Given the description of an element on the screen output the (x, y) to click on. 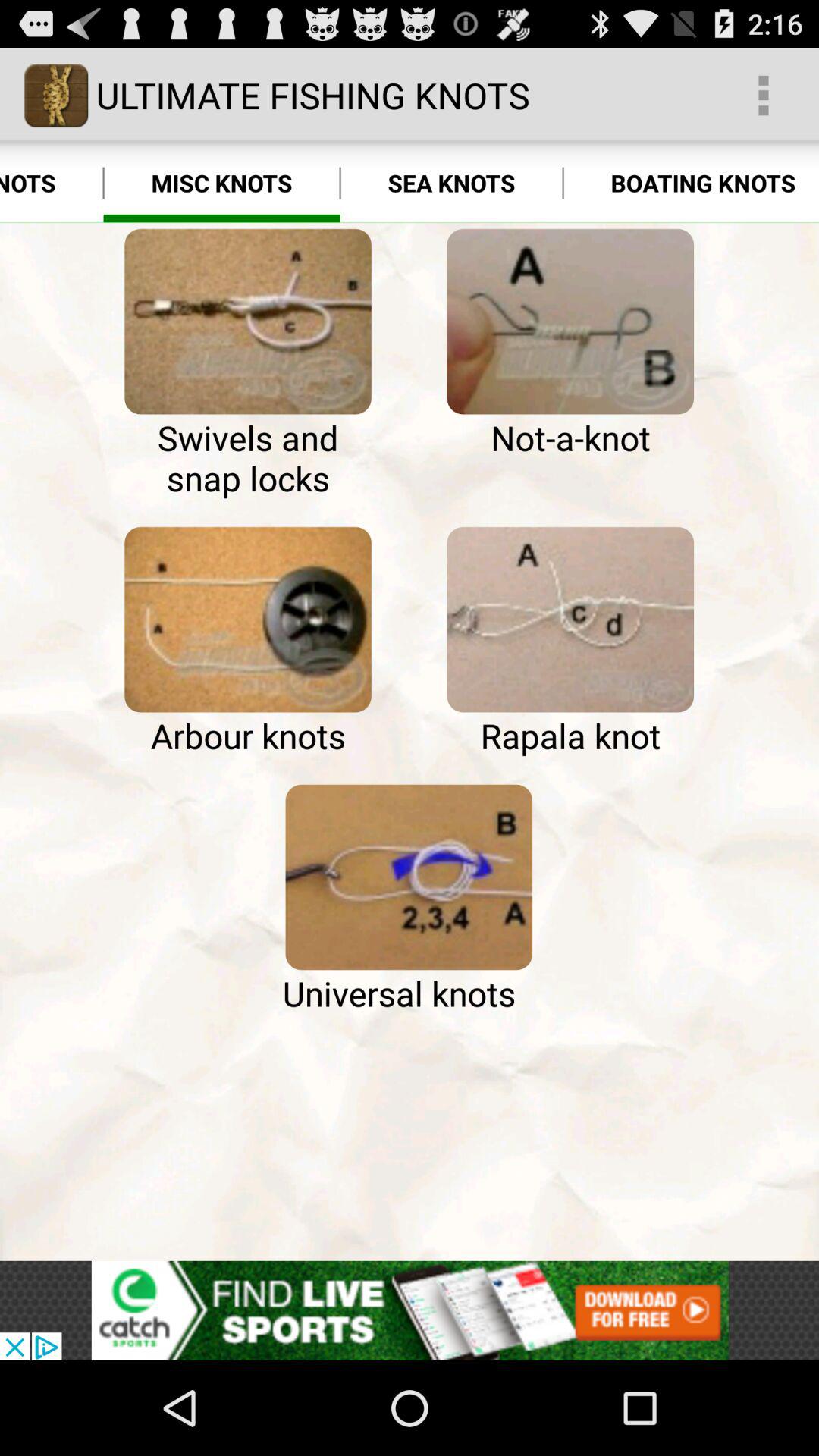
choose the icon to the right of the misc knots item (451, 182)
